Given the description of an element on the screen output the (x, y) to click on. 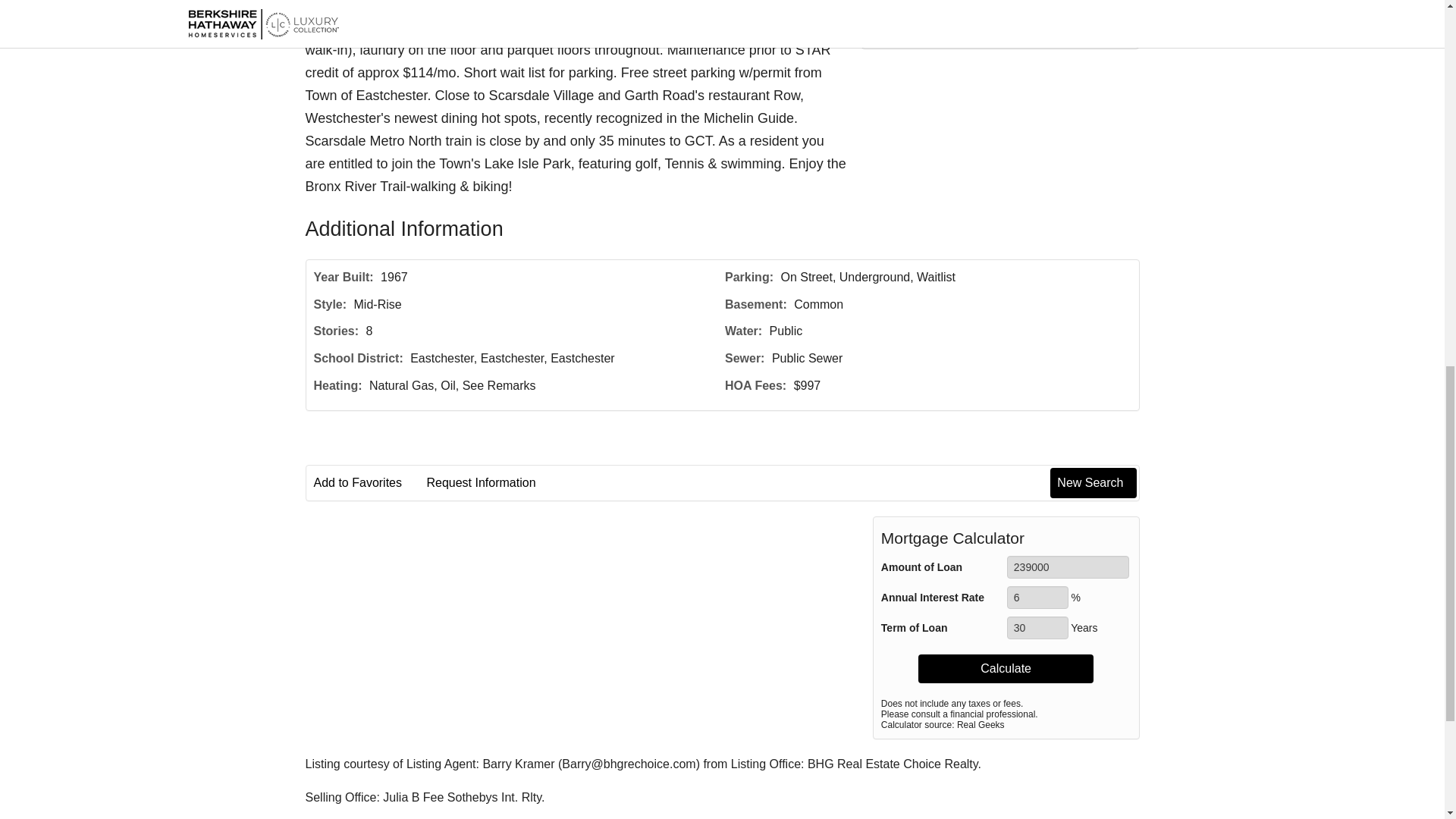
6 (1037, 597)
30 (1037, 627)
239000 (1068, 567)
Contact Us (999, 16)
